Given the description of an element on the screen output the (x, y) to click on. 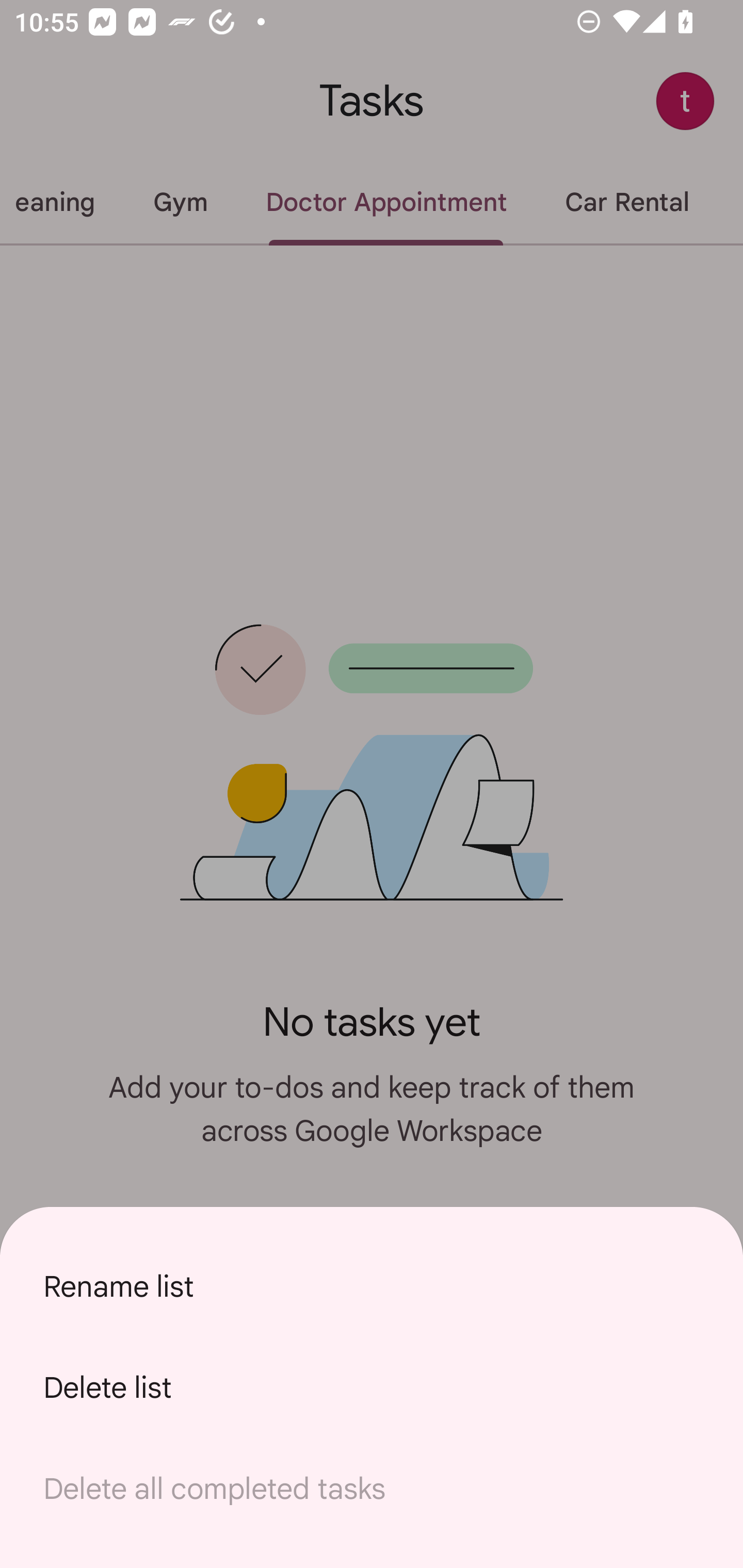
Rename list (371, 1286)
Delete list (371, 1387)
Delete all completed tasks (371, 1488)
